Given the description of an element on the screen output the (x, y) to click on. 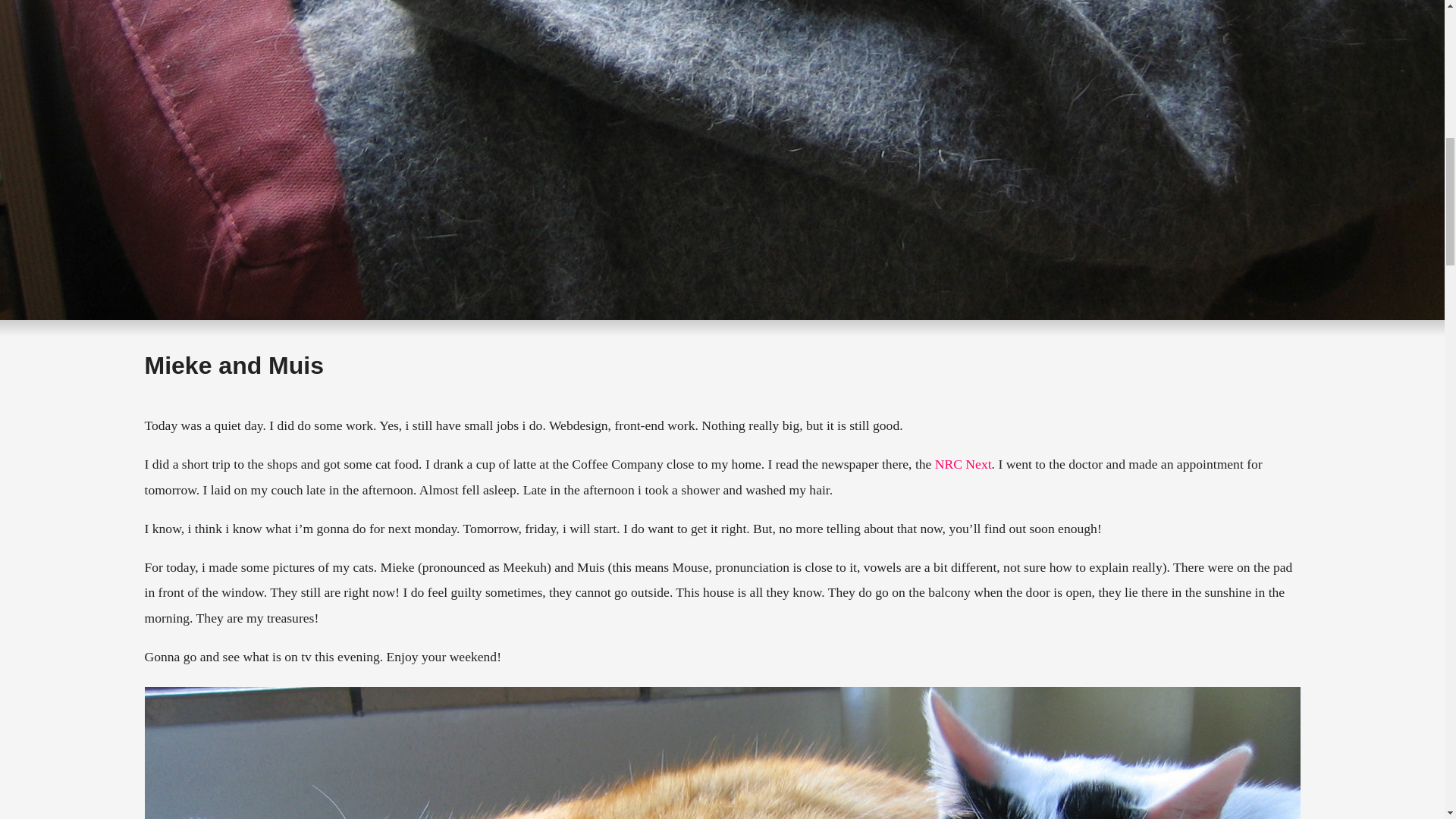
NRC Next (962, 463)
